Given the description of an element on the screen output the (x, y) to click on. 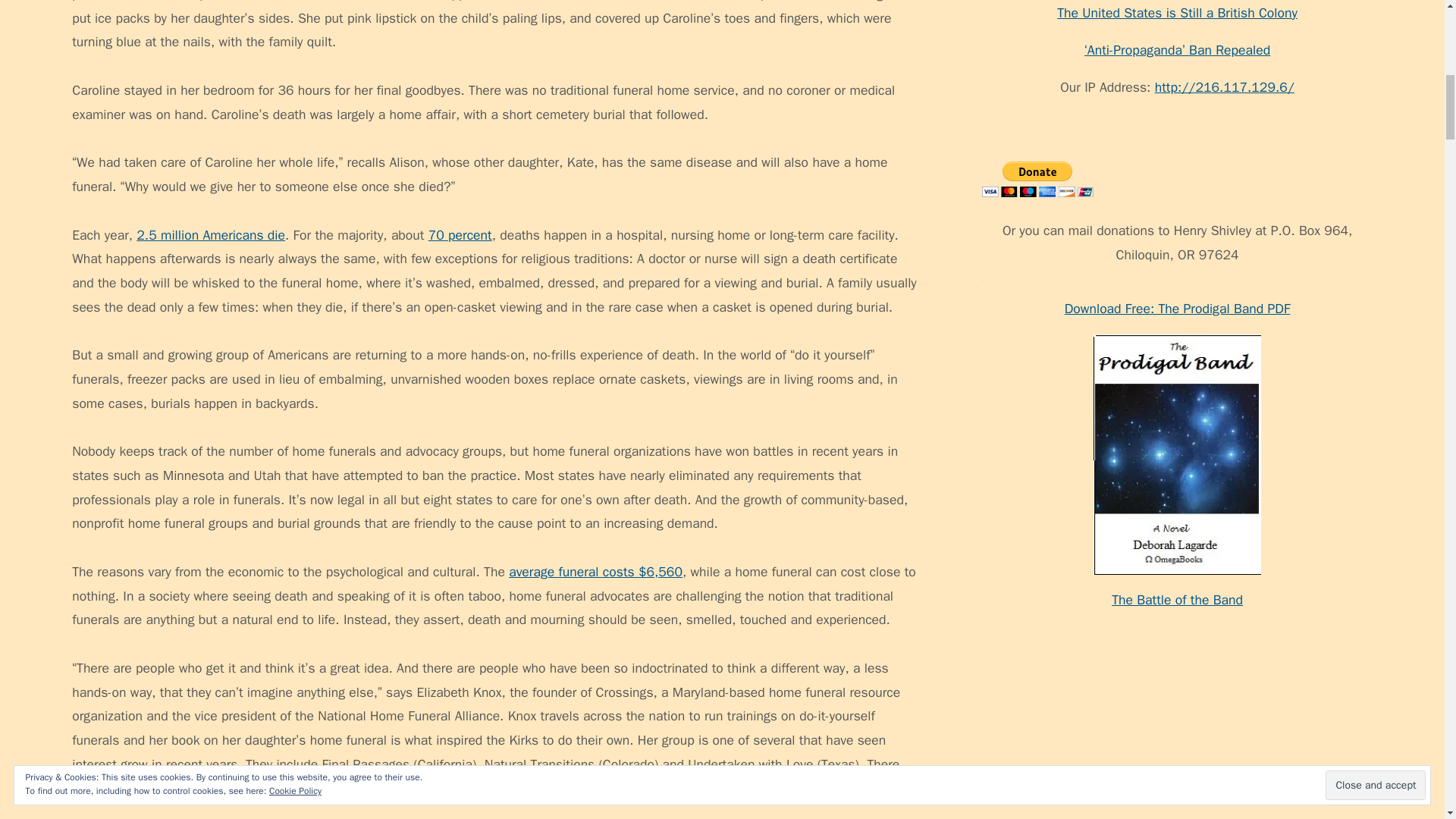
70 percent (460, 234)
porno (997, 507)
2.5 million Americans die (210, 234)
